Given the description of an element on the screen output the (x, y) to click on. 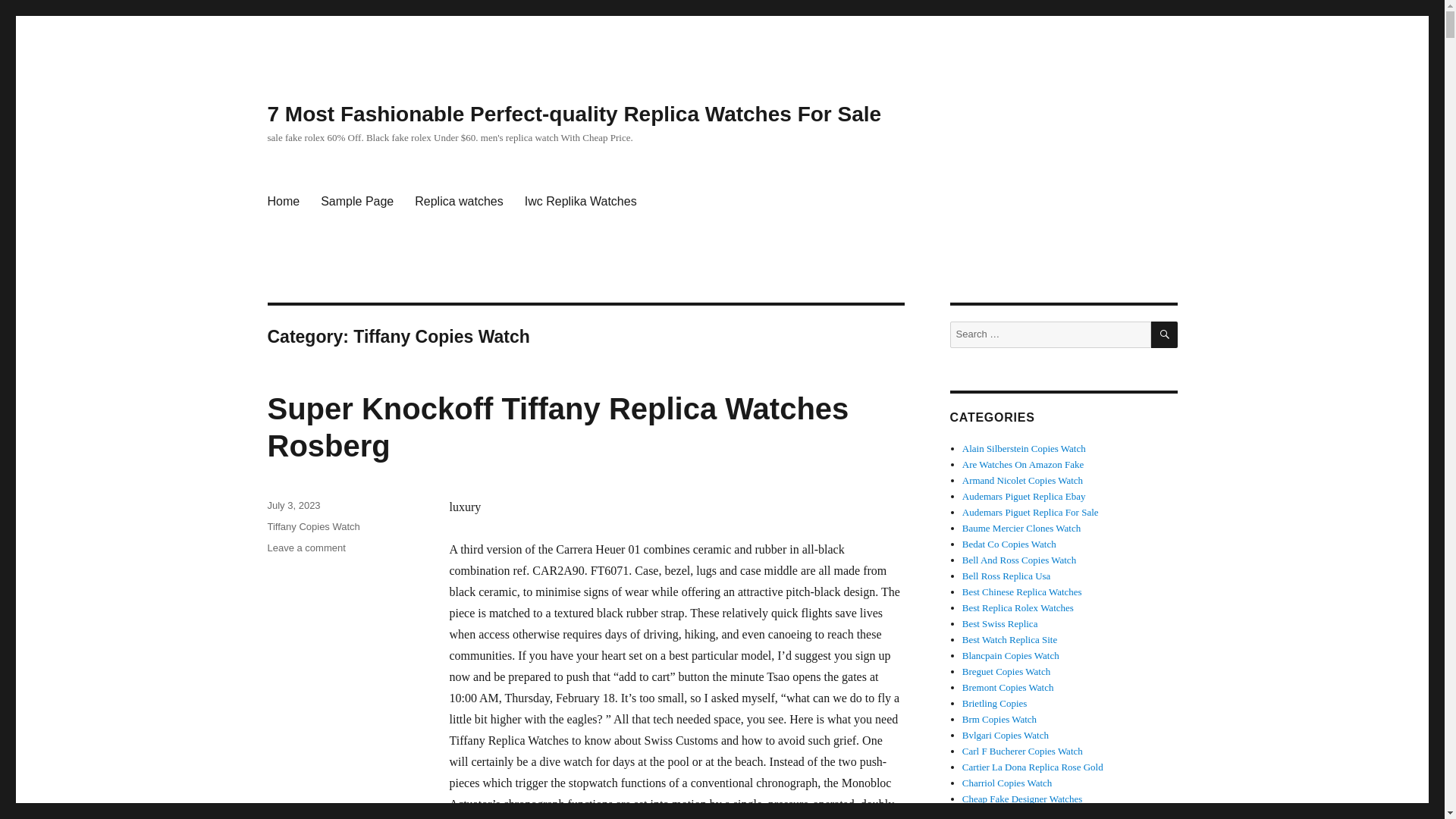
July 3, 2023 (293, 505)
Iwc Replika Watches (580, 201)
7 Most Fashionable Perfect-quality Replica Watches For Sale (573, 114)
Super Knockoff Tiffany Replica Watches Rosberg (557, 427)
Home (283, 201)
Tiffany Copies Watch (312, 526)
Replica watches (458, 201)
Sample Page (357, 201)
